Given the description of an element on the screen output the (x, y) to click on. 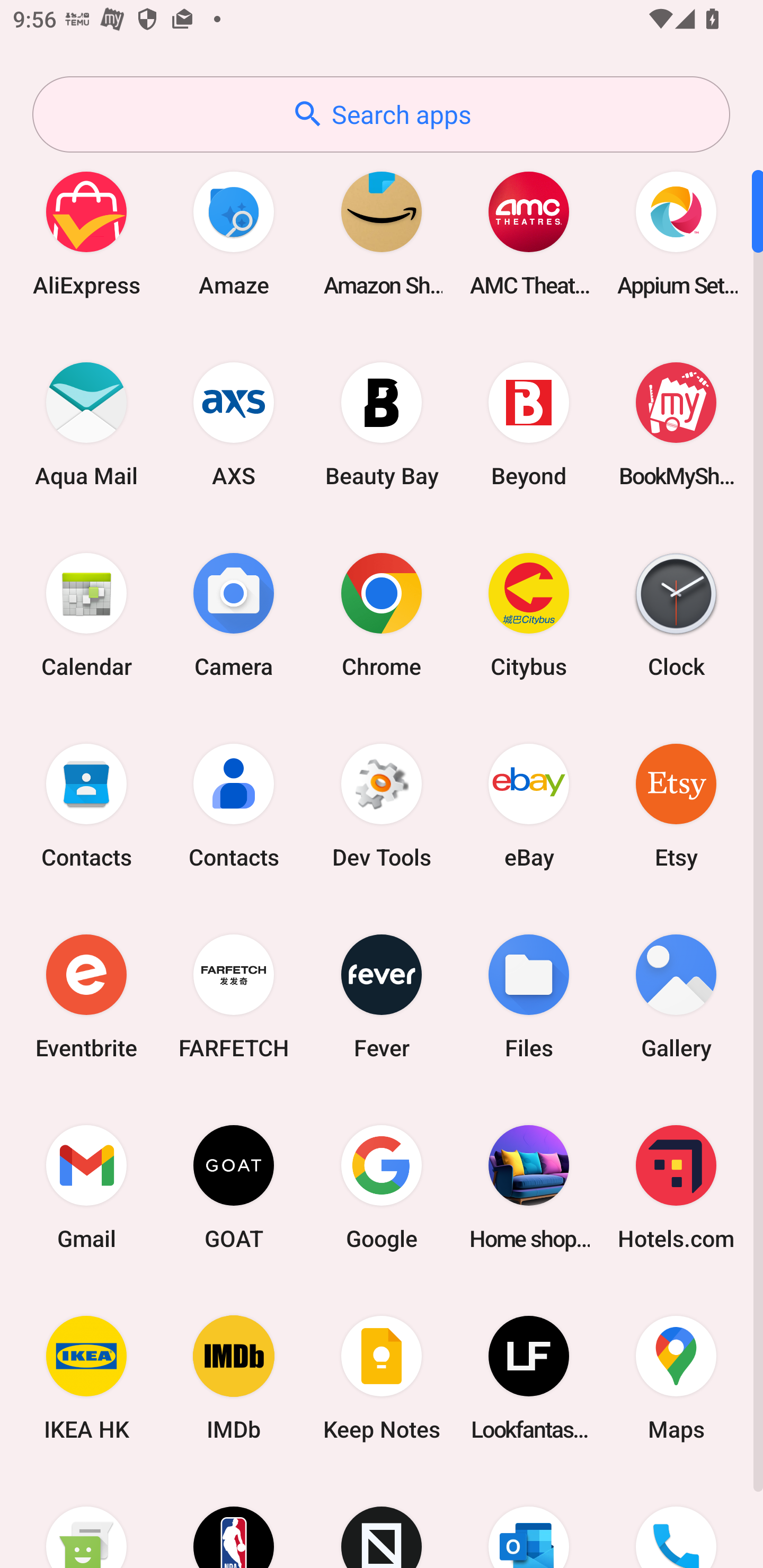
  Search apps (381, 114)
AliExpress (86, 233)
Amaze (233, 233)
Amazon Shopping (381, 233)
AMC Theatres (528, 233)
Appium Settings (676, 233)
Aqua Mail (86, 424)
AXS (233, 424)
Beauty Bay (381, 424)
Beyond (528, 424)
BookMyShow (676, 424)
Calendar (86, 614)
Camera (233, 614)
Chrome (381, 614)
Citybus (528, 614)
Clock (676, 614)
Contacts (86, 805)
Contacts (233, 805)
Dev Tools (381, 805)
eBay (528, 805)
Etsy (676, 805)
Eventbrite (86, 996)
FARFETCH (233, 996)
Fever (381, 996)
Files (528, 996)
Gallery (676, 996)
Gmail (86, 1186)
GOAT (233, 1186)
Google (381, 1186)
Home shopping (528, 1186)
Hotels.com (676, 1186)
IKEA HK (86, 1377)
IMDb (233, 1377)
Keep Notes (381, 1377)
Lookfantastic (528, 1377)
Maps (676, 1377)
